Given the description of an element on the screen output the (x, y) to click on. 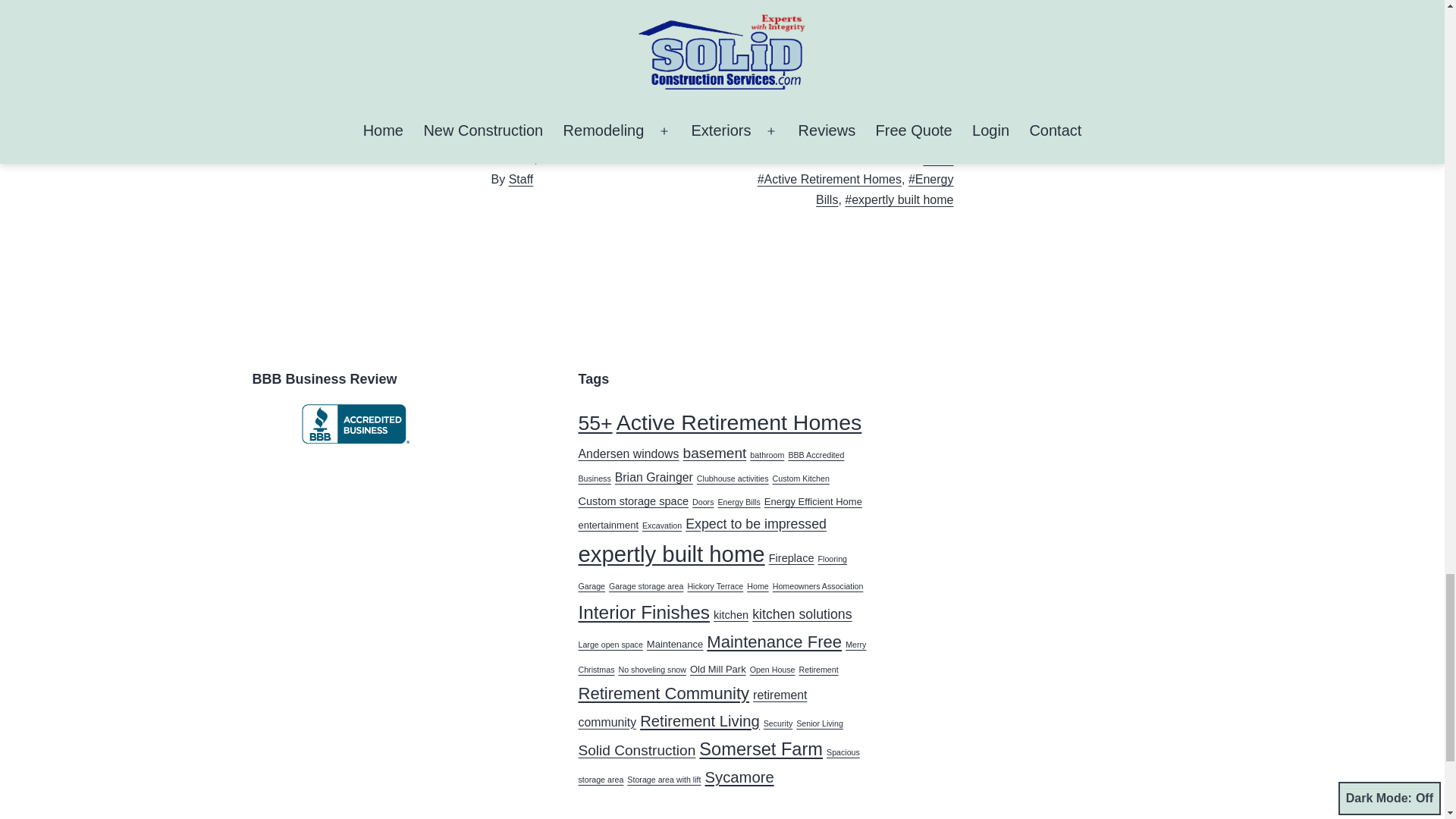
Custom Kitchen (801, 478)
Brian Grainger (653, 477)
Doors (703, 501)
basement (714, 453)
Energy Bills (884, 189)
BBB Accredited Business (711, 466)
Custom storage space (633, 500)
Active Retirement Homes (829, 178)
Andersen windows (628, 453)
Active Retirement Homes (738, 422)
Staff (521, 178)
bathroom (766, 454)
expertly built home (898, 199)
entertainment (608, 524)
Energy Efficient Home (812, 501)
